Given the description of an element on the screen output the (x, y) to click on. 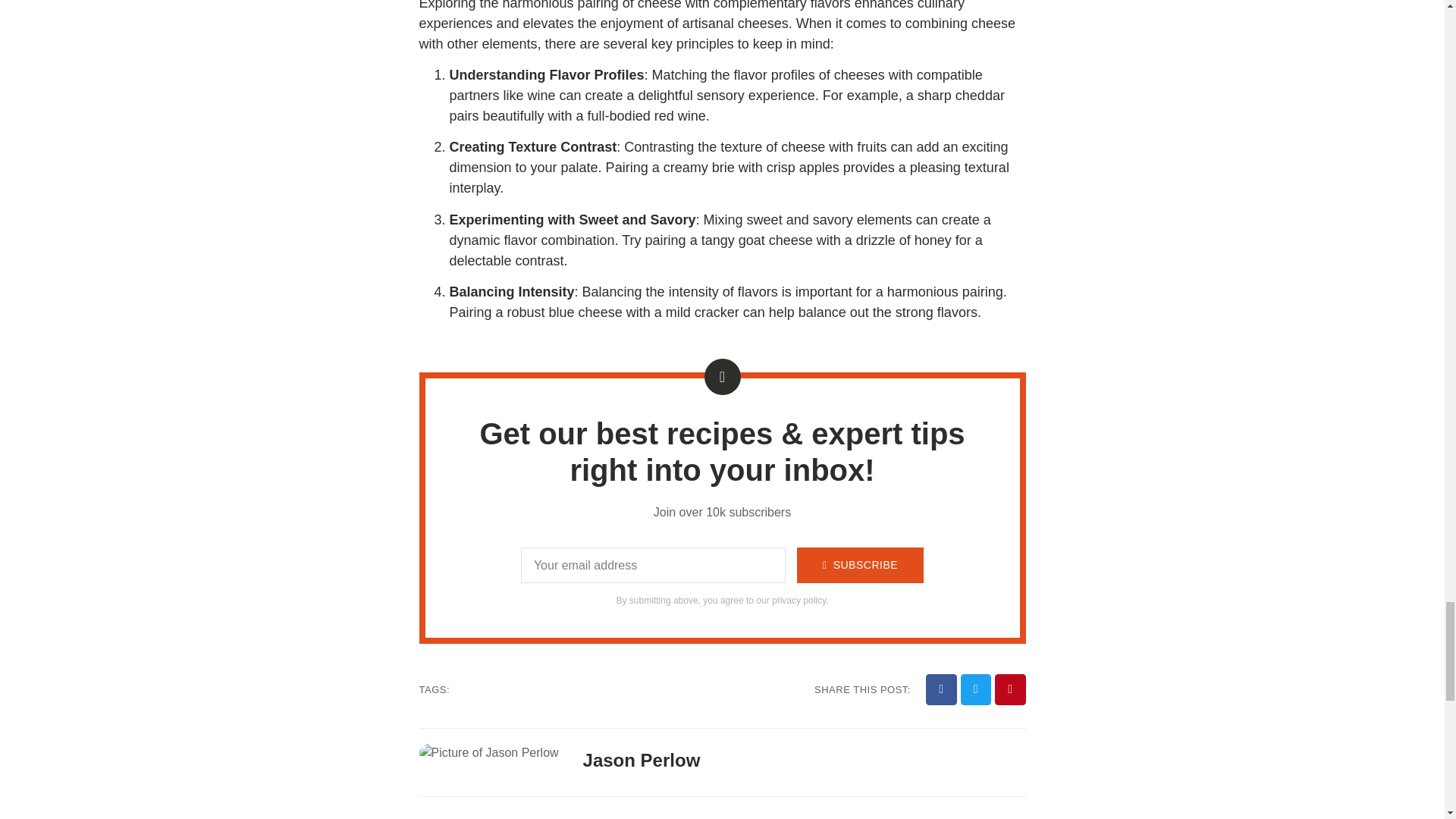
SUBSCRIBE (859, 565)
